Given the description of an element on the screen output the (x, y) to click on. 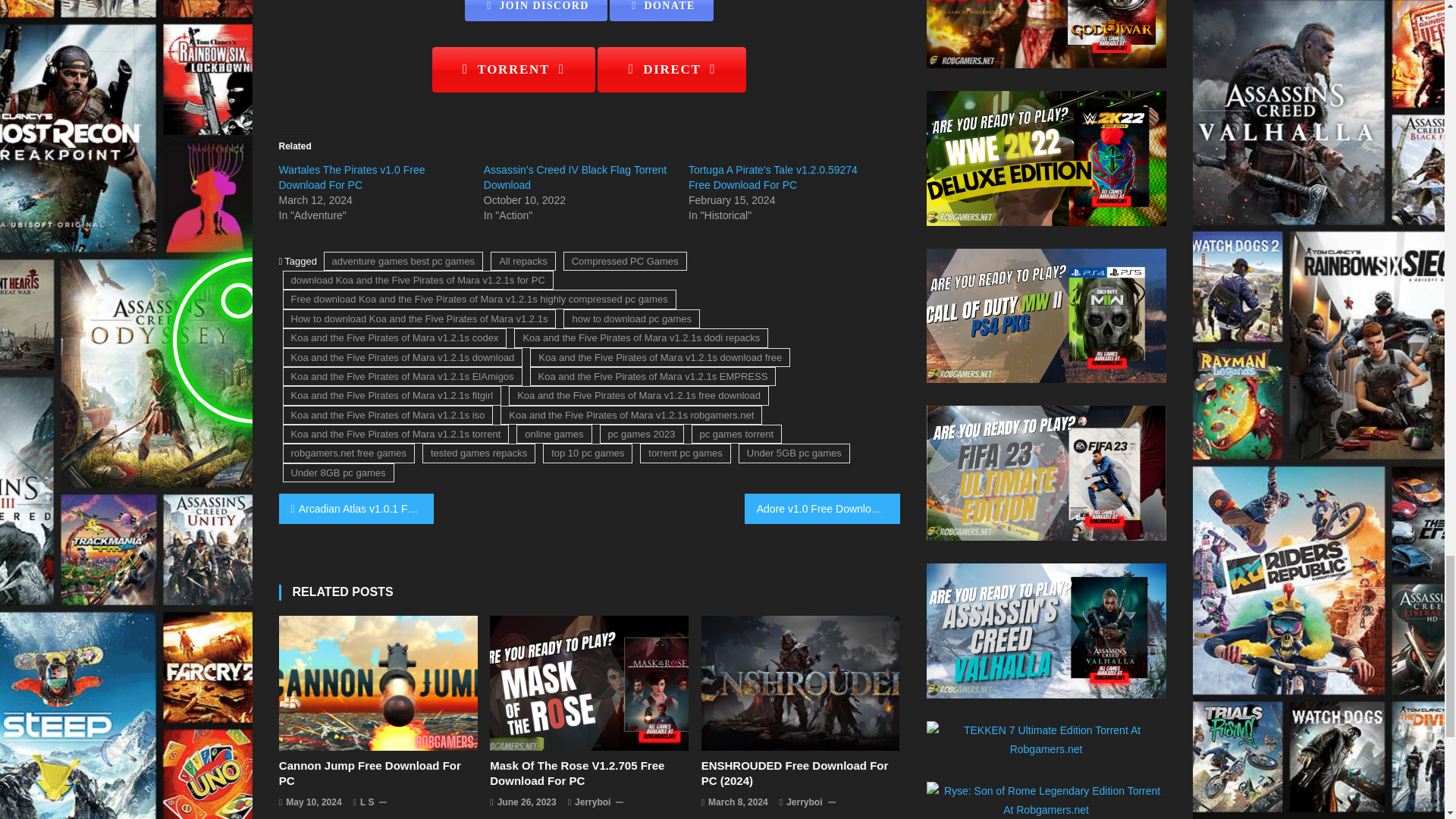
Wartales The Pirates v1.0 Free Download For PC (352, 176)
